Given the description of an element on the screen output the (x, y) to click on. 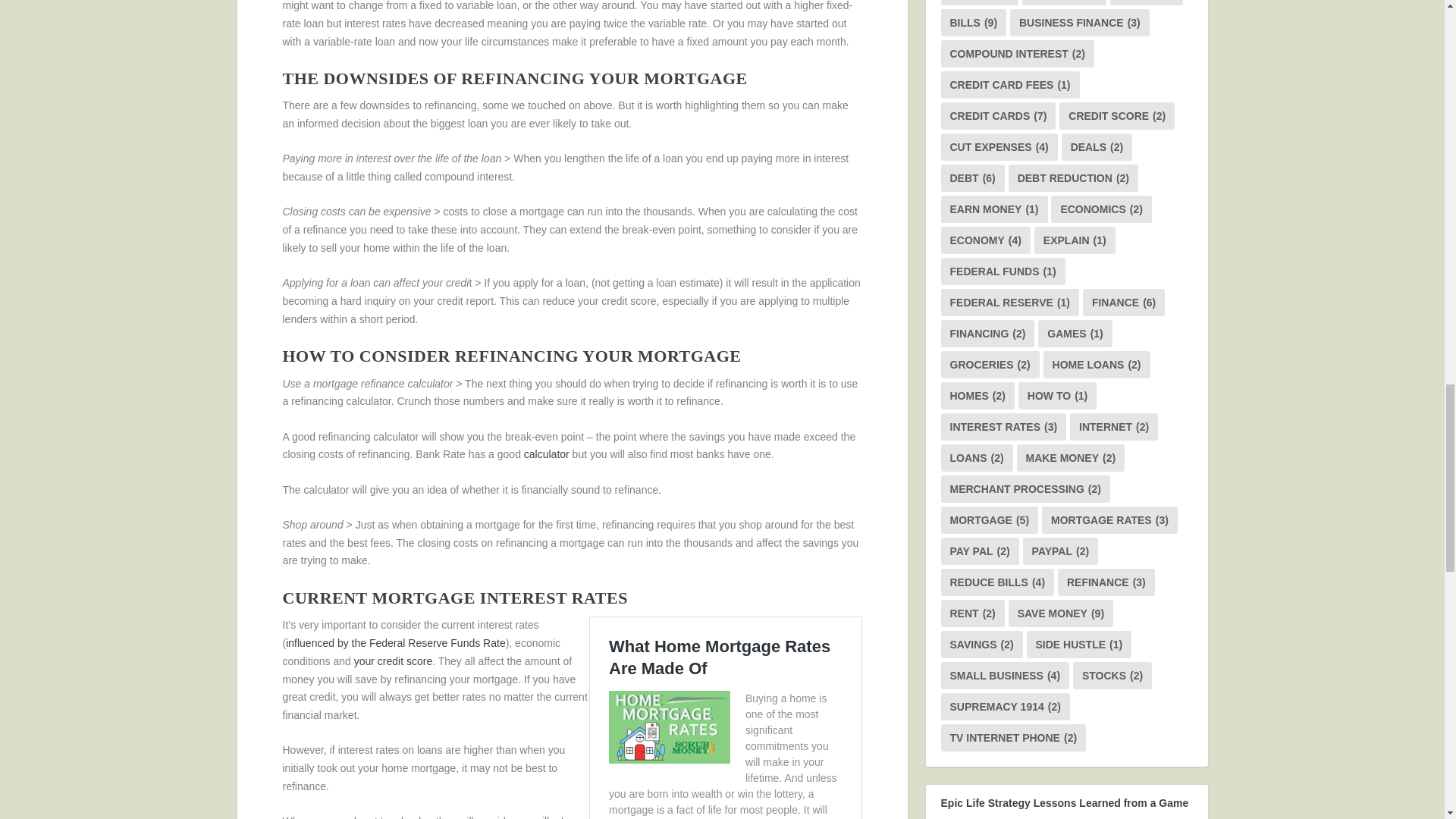
Current Fed Funds Rates (395, 643)
Mortgage Rates by Credit Score (392, 661)
calculator (546, 453)
influenced by the Federal Reserve Funds Rate (395, 643)
your credit score (392, 661)
